Given the description of an element on the screen output the (x, y) to click on. 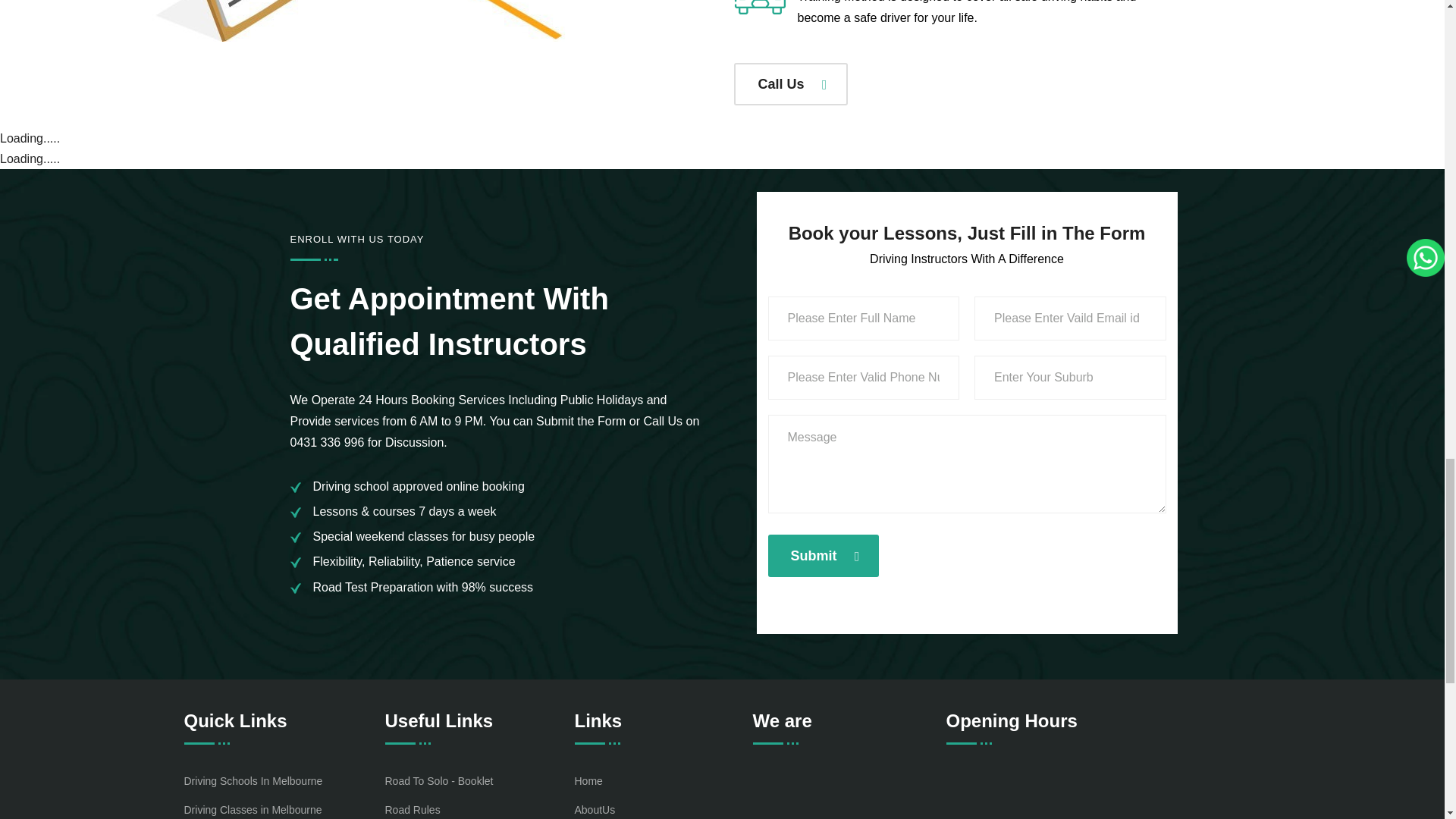
Home (588, 781)
Enter valid phoneno (863, 377)
Driving Classes in Melbourne (252, 809)
Submit (822, 555)
AboutUs (595, 809)
Road Rules (413, 809)
Call Us (790, 84)
Driving Schools In Melbourne (252, 781)
Road To Solo - Booklet (439, 781)
